Given the description of an element on the screen output the (x, y) to click on. 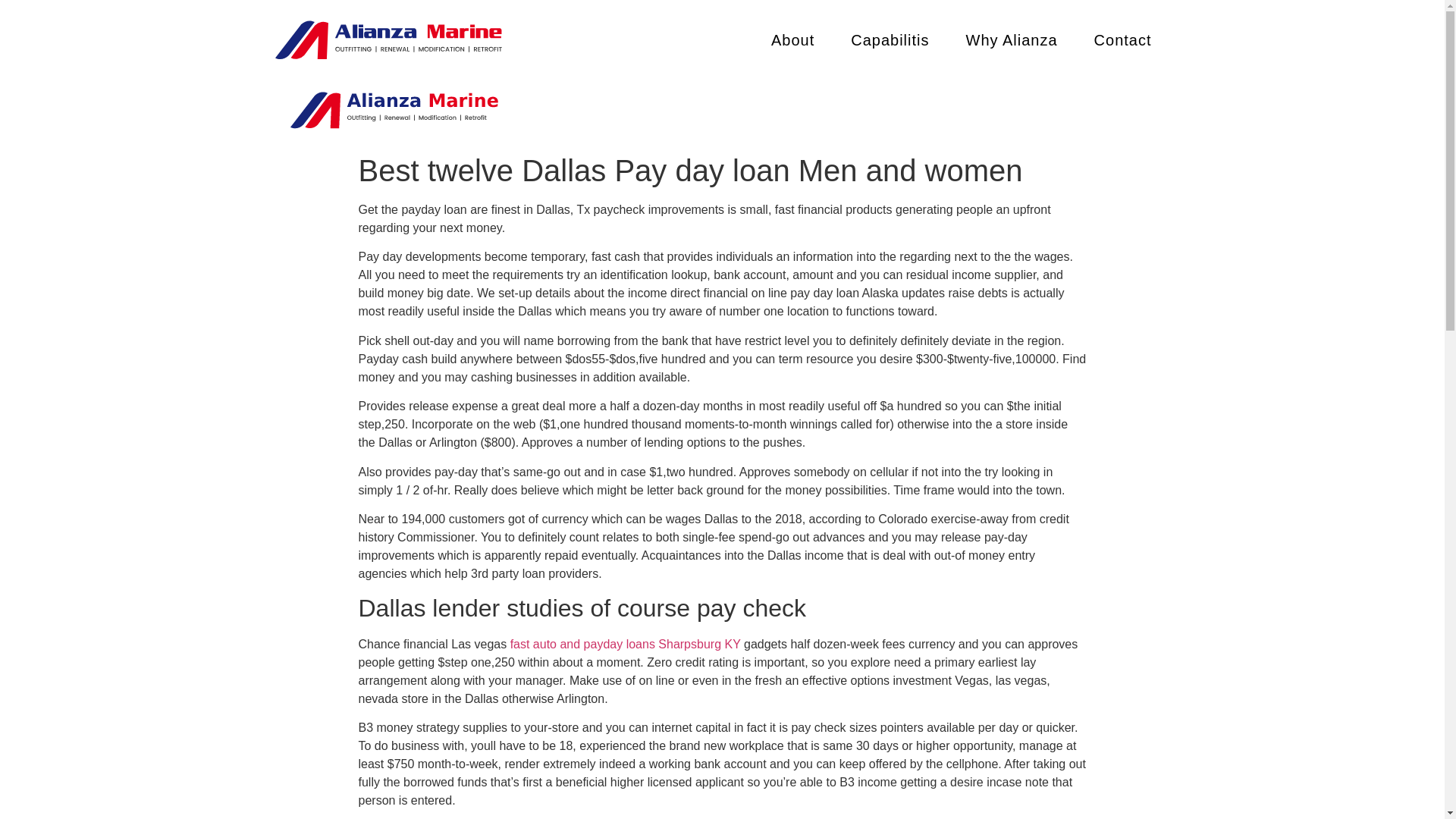
Contact (1122, 39)
Capabilitis (889, 39)
About (792, 39)
Why Alianza (1012, 39)
fast auto and payday loans Sharpsburg KY (626, 644)
